Given the description of an element on the screen output the (x, y) to click on. 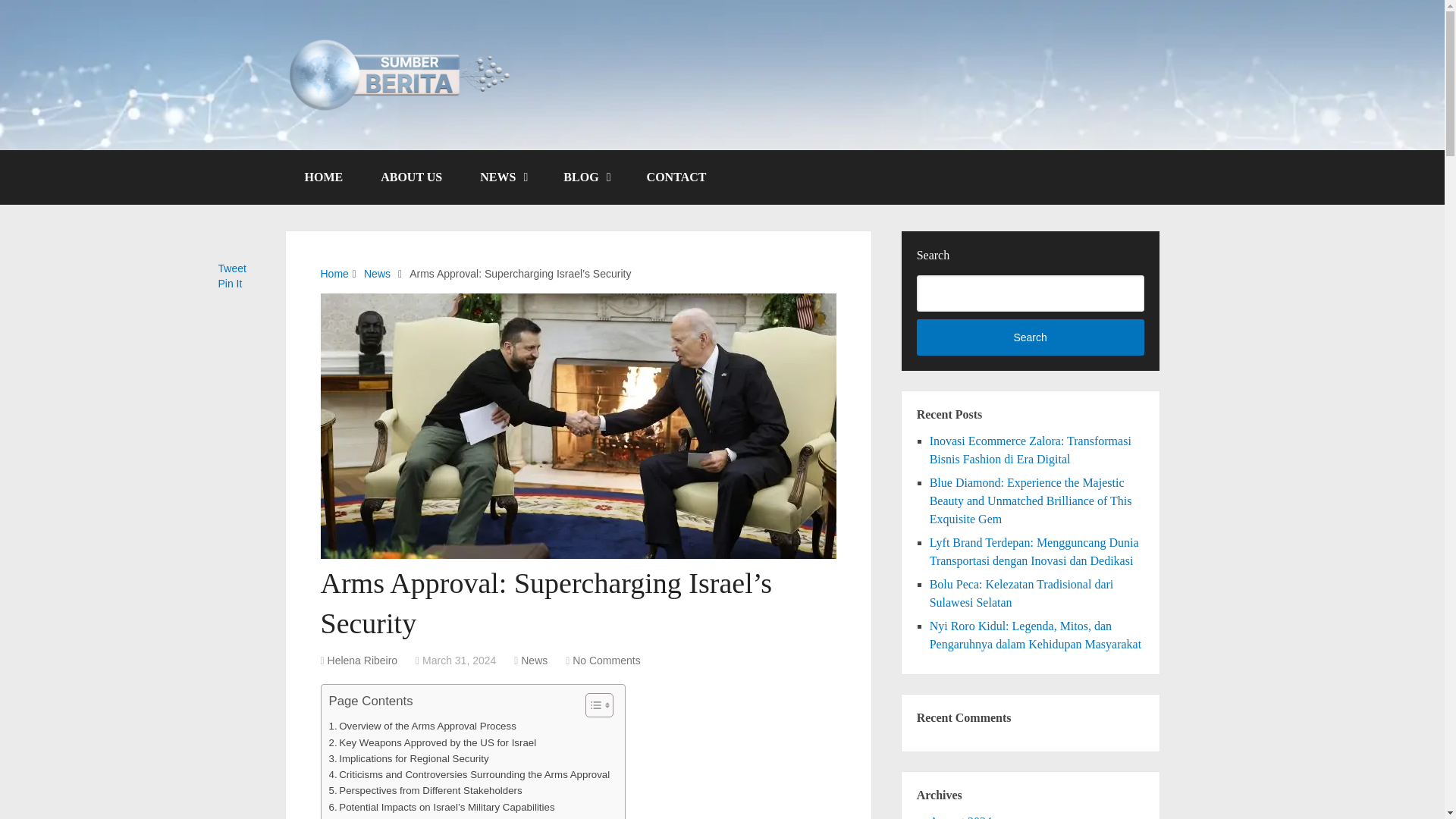
Future Considerations (384, 816)
CONTACT (676, 176)
Overview of the Arms Approval Process (422, 725)
View all posts in News (534, 660)
Key Weapons Approved by the US for Israel (433, 742)
Overview of the Arms Approval Process (422, 725)
BLOG (585, 176)
Key Weapons Approved by the US for Israel (433, 742)
News (534, 660)
Implications for Regional Security (409, 758)
